Given the description of an element on the screen output the (x, y) to click on. 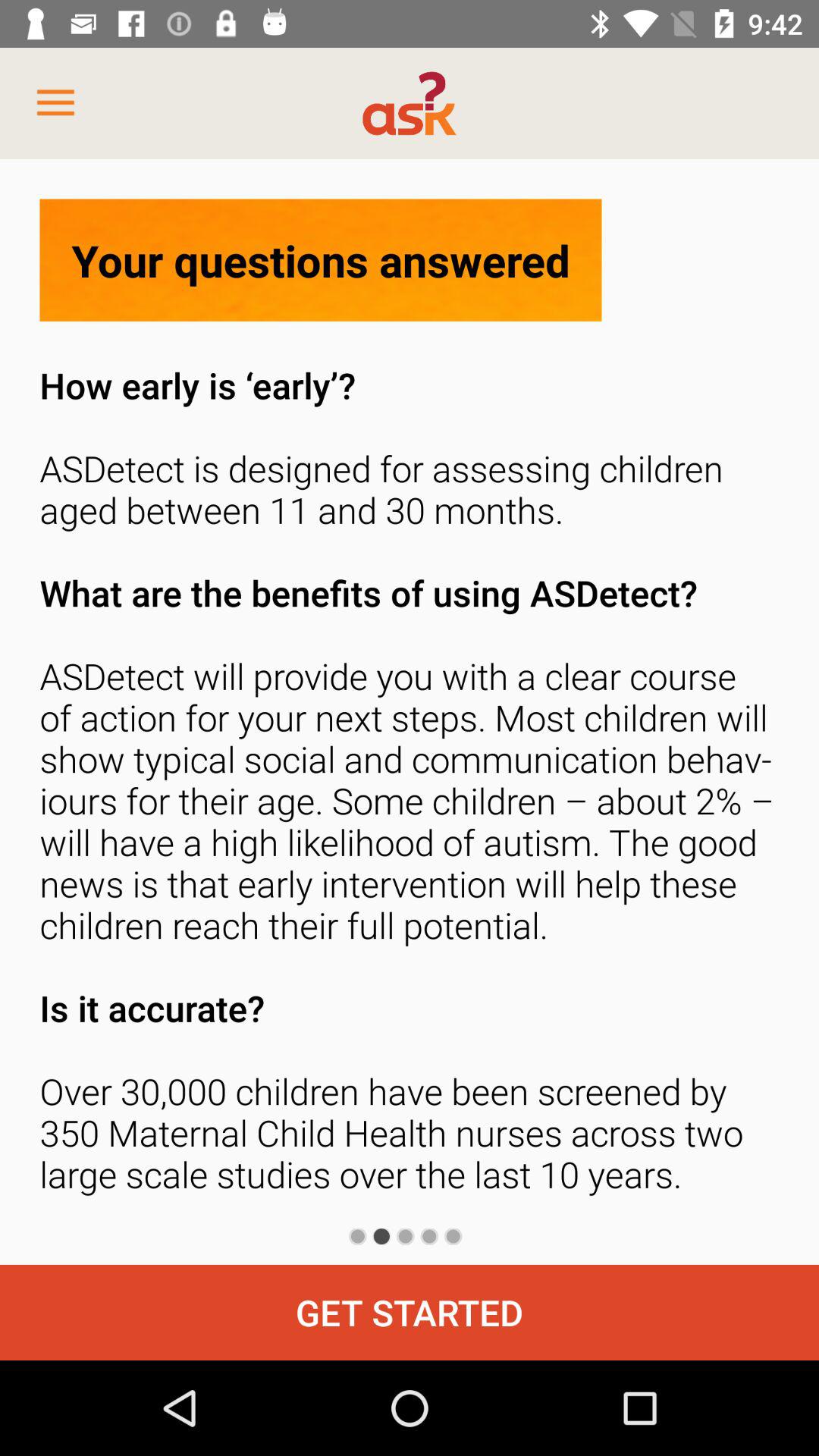
turn on the item above your questions answered icon (55, 103)
